Given the description of an element on the screen output the (x, y) to click on. 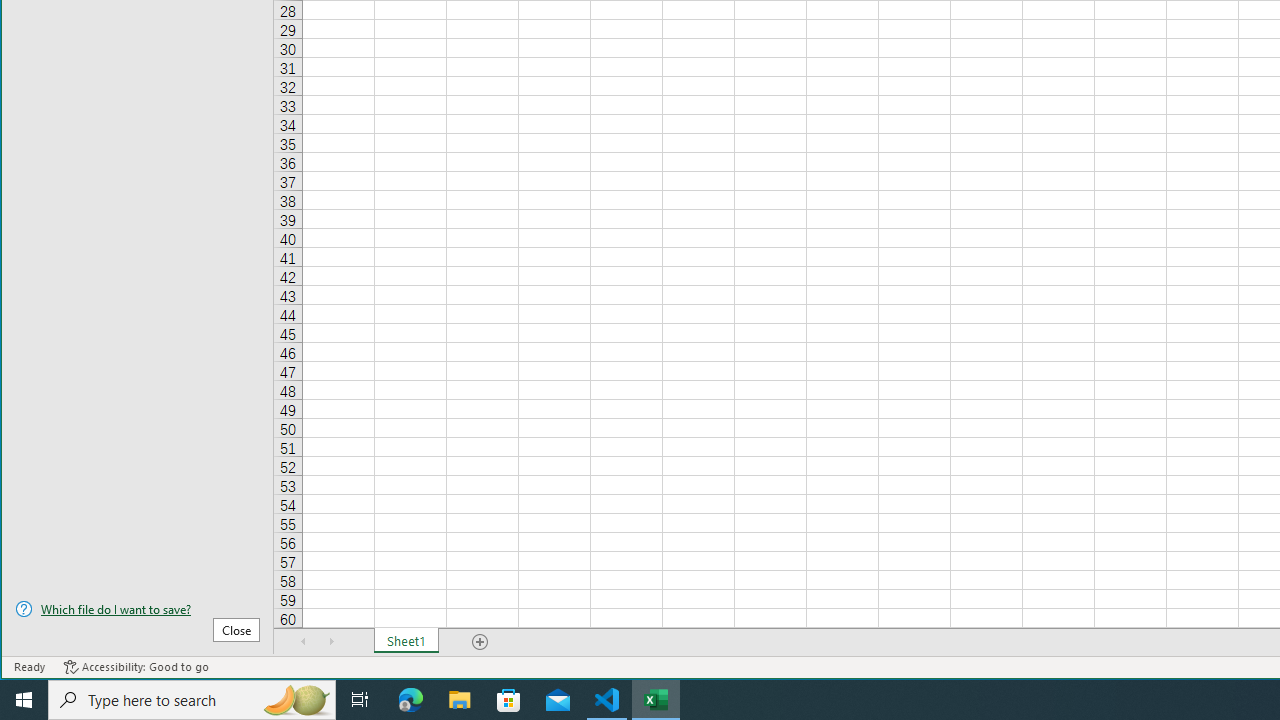
Visual Studio Code - 1 running window (607, 699)
Search highlights icon opens search home window (295, 699)
Microsoft Store (509, 699)
Start (24, 699)
Type here to search (191, 699)
Excel - 1 running window (656, 699)
File Explorer (460, 699)
Task View (359, 699)
